Given the description of an element on the screen output the (x, y) to click on. 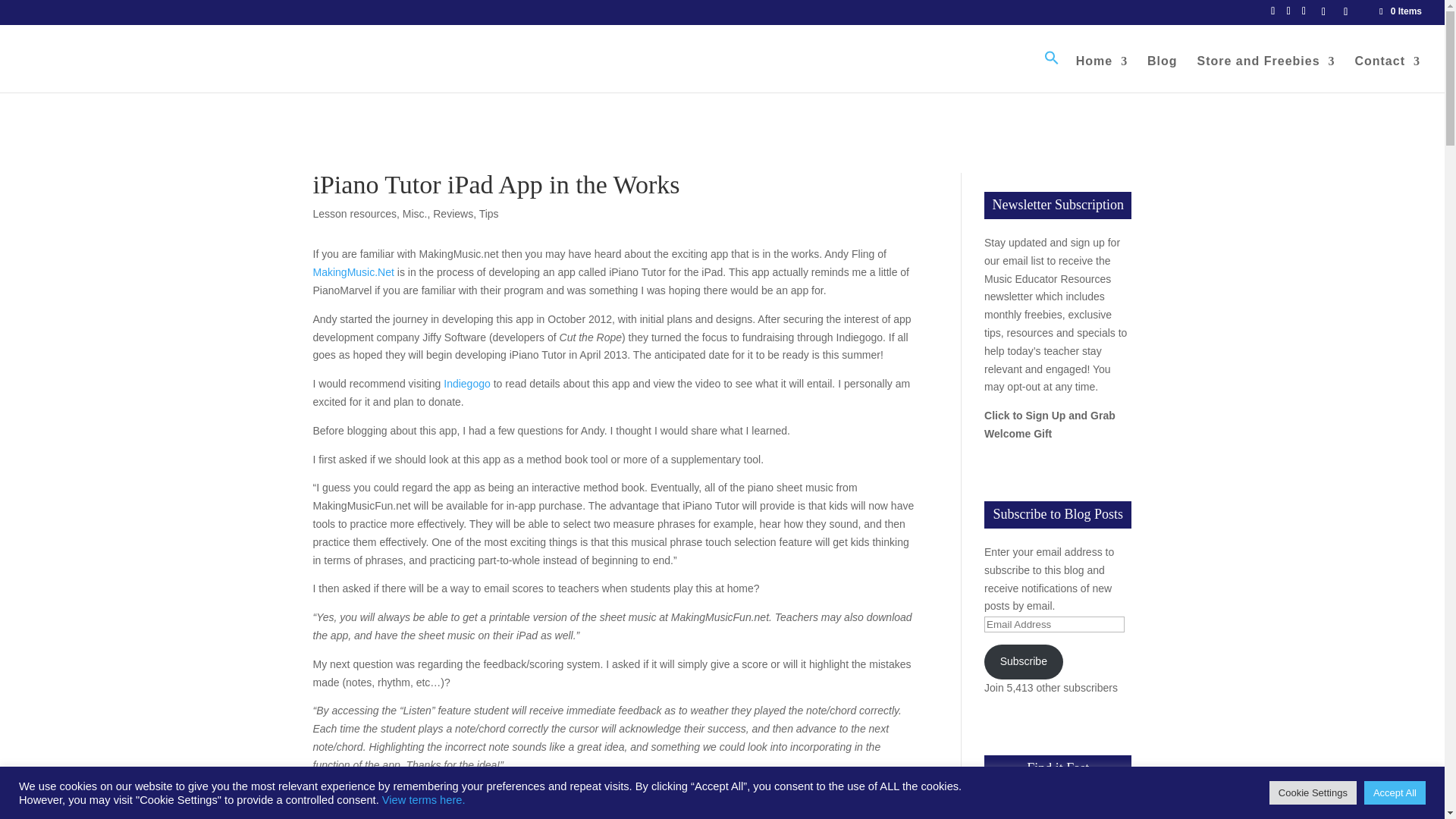
Home (1100, 73)
Store and Freebies (1265, 73)
Contact (1387, 73)
0 Items (1399, 10)
